Given the description of an element on the screen output the (x, y) to click on. 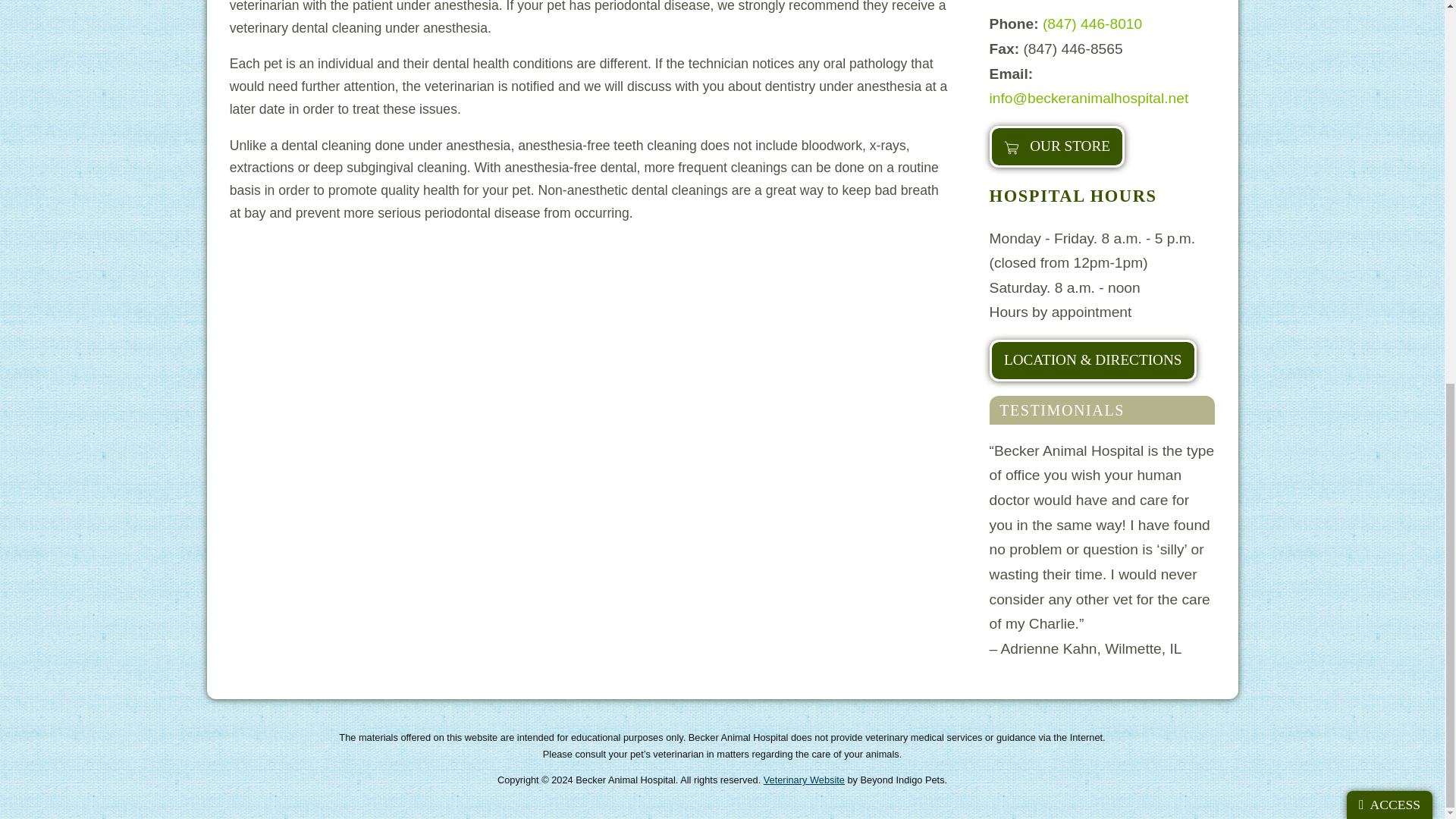
ACCESS (1389, 85)
Beyond Indigo Pets (803, 779)
